Given the description of an element on the screen output the (x, y) to click on. 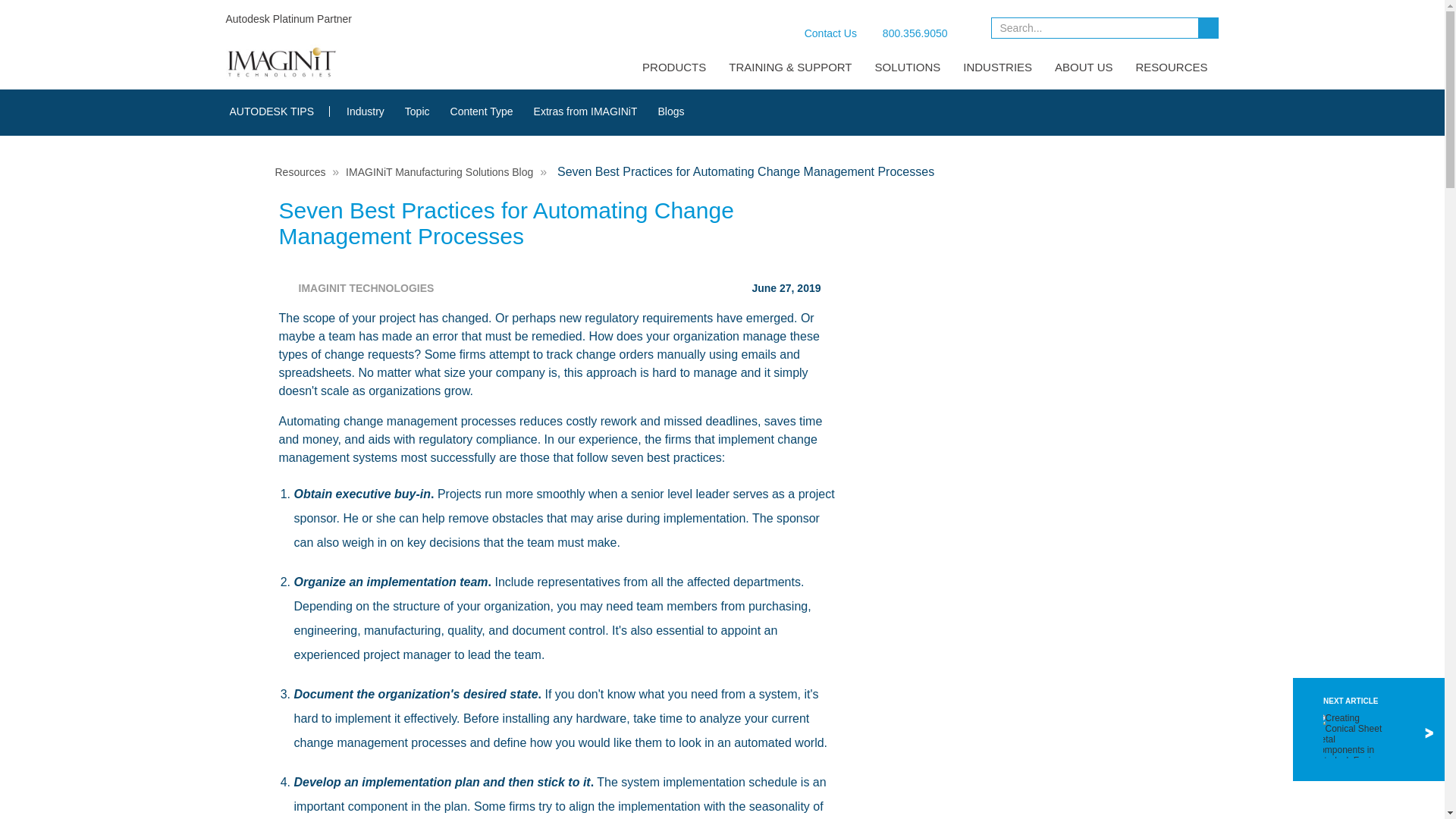
Search Site (1104, 30)
Search (1210, 27)
PRODUCTS (663, 67)
800.356.9050 (905, 31)
IMAGINiT.com (280, 62)
PNOW logo (968, 26)
Contact Us (819, 33)
